Given the description of an element on the screen output the (x, y) to click on. 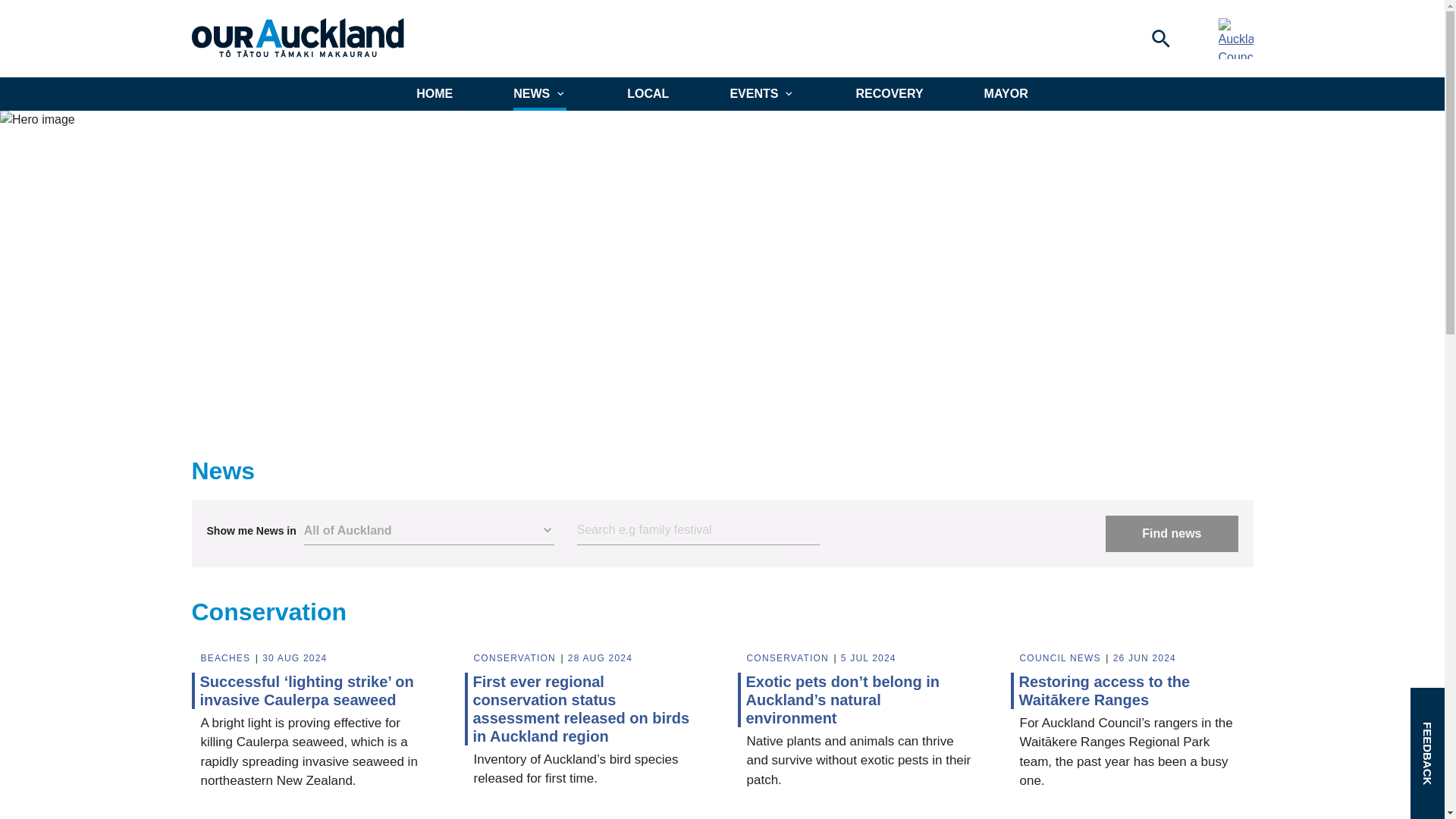
Search (697, 530)
RECOVERY (889, 93)
CONSERVATION (516, 658)
BEACHES (226, 658)
Find news (1171, 533)
HOME (434, 93)
EVENTS (761, 93)
MAYOR (1005, 93)
NEWS (539, 93)
